Given the description of an element on the screen output the (x, y) to click on. 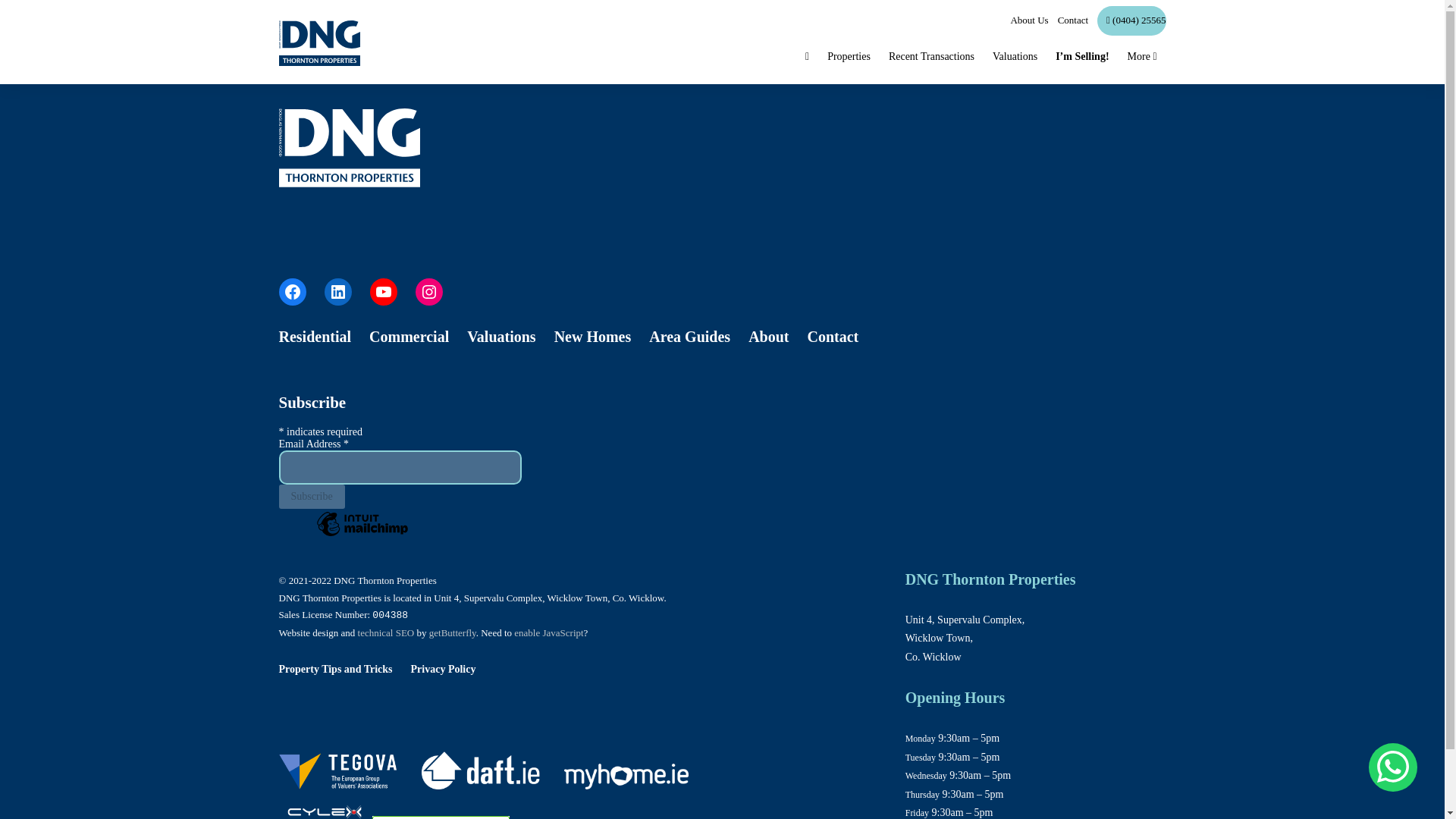
New Homes (592, 336)
About Us (1024, 20)
DNG Thornton Properties (324, 804)
getButterfly (452, 632)
Privacy Policy (443, 668)
Valuations (501, 336)
More (1142, 57)
Mailchimp - email marketing made easy and fun (362, 535)
Recent Transactions (931, 57)
Subscribe (312, 496)
Valuations (1015, 57)
Subscribe (312, 496)
Properties (848, 57)
Commercial (408, 336)
Property Tips and Tricks (336, 668)
